Given the description of an element on the screen output the (x, y) to click on. 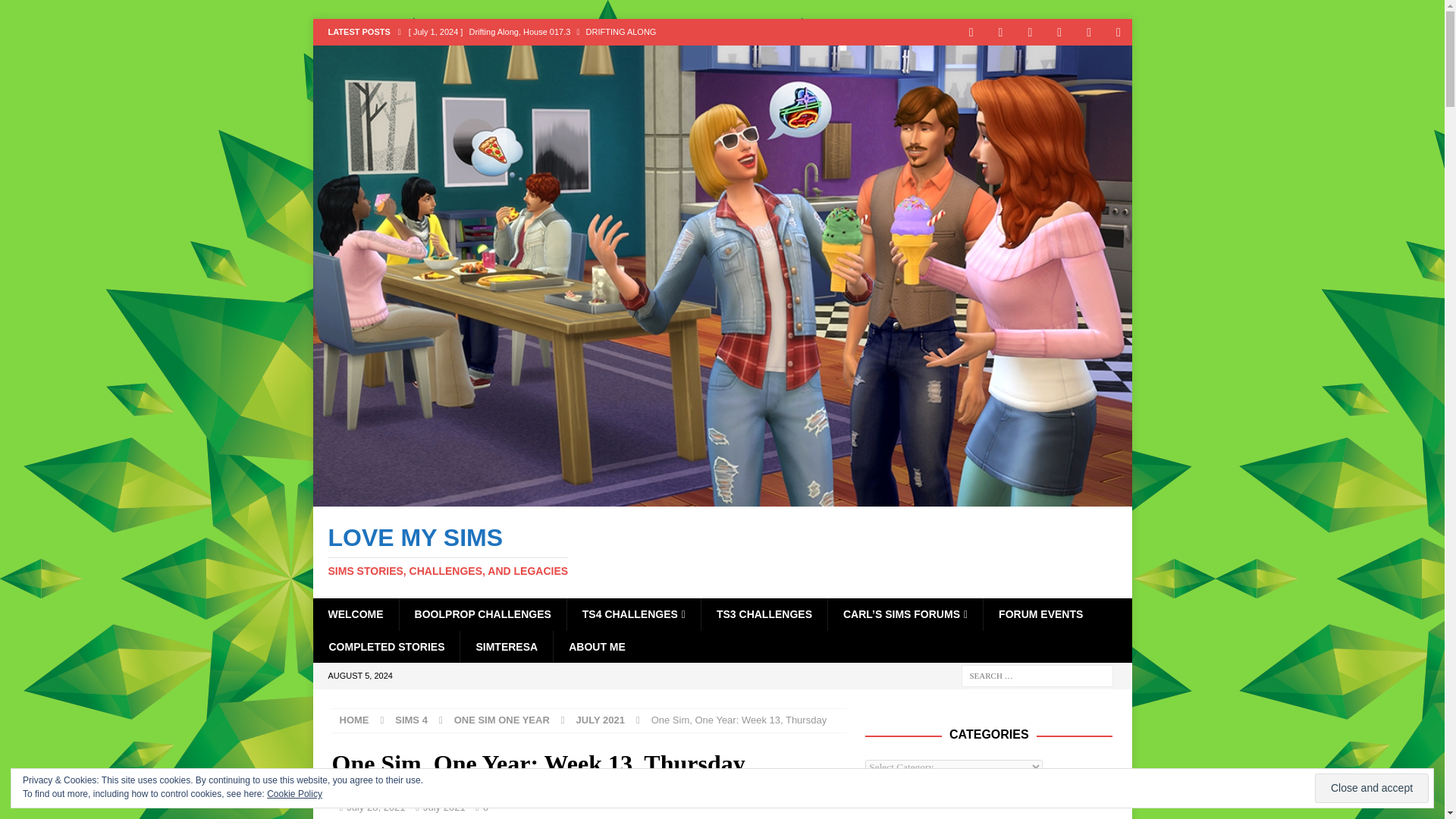
COMPLETED STORIES (386, 646)
ABOUT ME (596, 646)
Close and accept (1371, 788)
TS4 CHALLENGES (633, 613)
Search (56, 11)
SIMS 4 (411, 719)
FORUM EVENTS (1039, 613)
July 28, 2021 (375, 807)
SIMTERESA (506, 646)
JULY 2021 (600, 719)
ONE SIM ONE YEAR (502, 719)
TS3 CHALLENGES (763, 613)
WELCOME (355, 613)
July 2021 (721, 551)
